Given the description of an element on the screen output the (x, y) to click on. 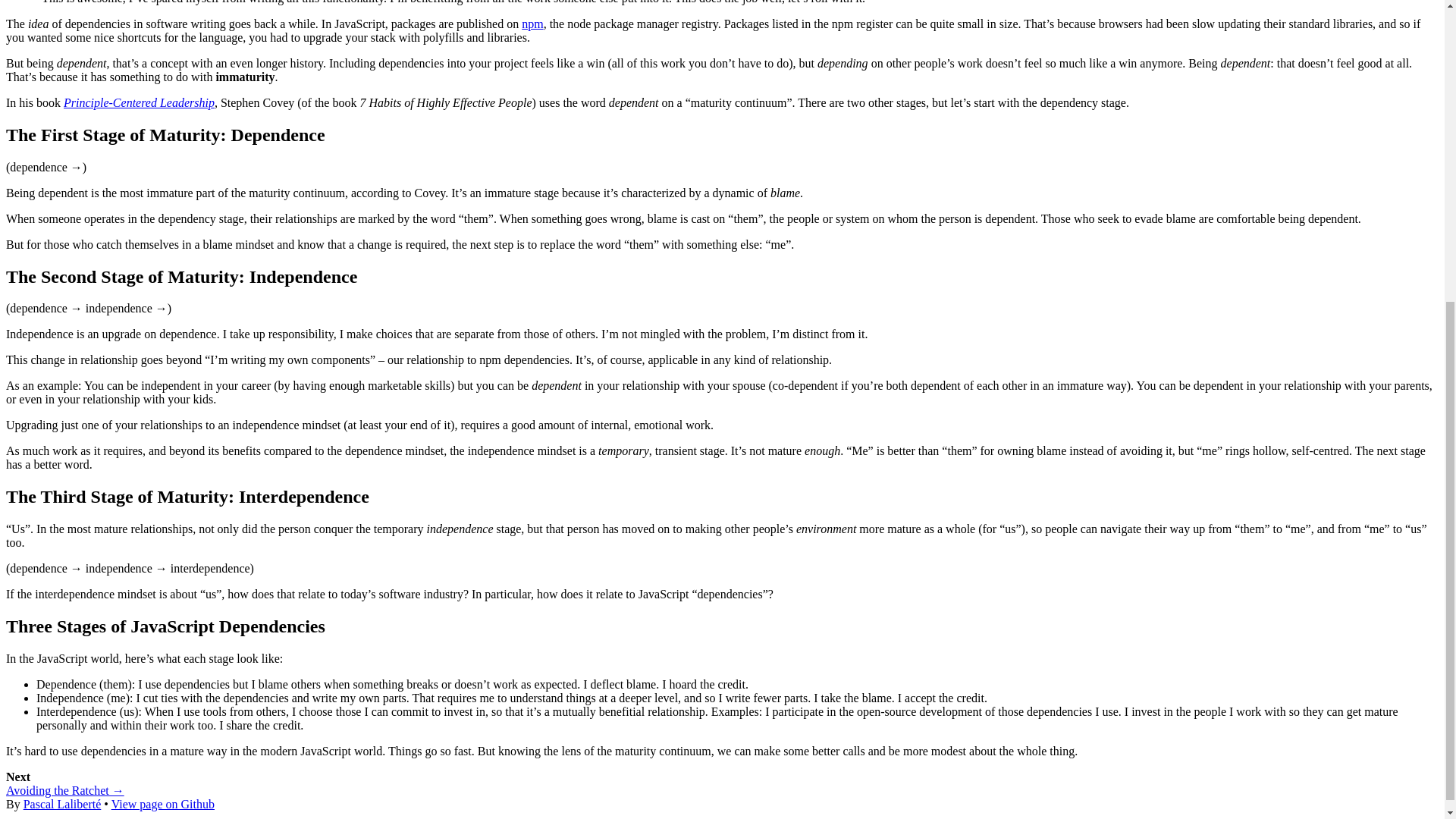
View page on Github (163, 803)
npm (532, 23)
Principle-Centered Leadership (139, 102)
